Given the description of an element on the screen output the (x, y) to click on. 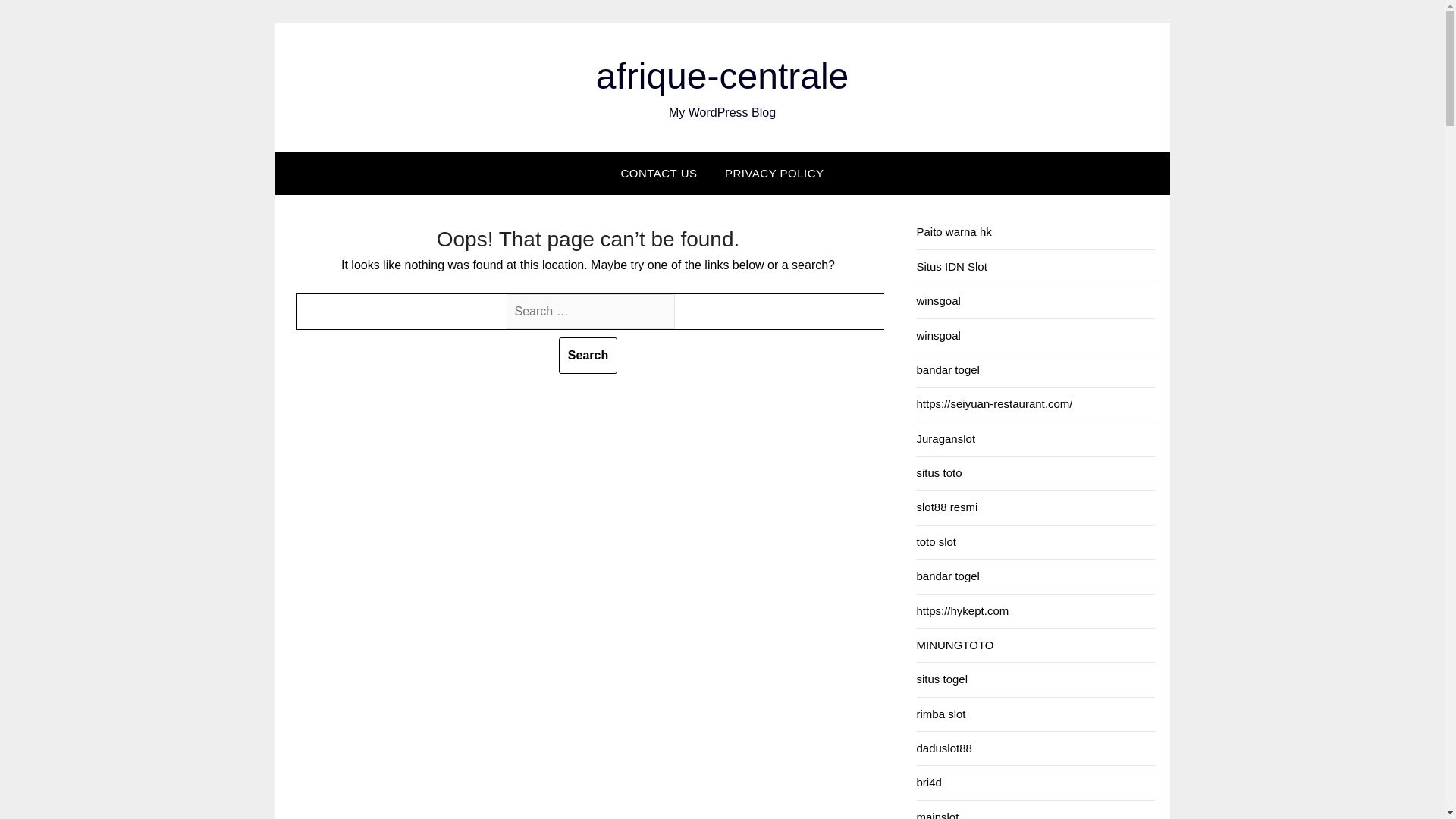
CONTACT US (658, 173)
winsgoal (937, 300)
winsgoal (937, 335)
daduslot88 (943, 748)
PRIVACY POLICY (774, 173)
bri4d (927, 781)
bandar togel (946, 575)
toto slot (935, 541)
Situs IDN Slot (951, 266)
bandar togel (946, 369)
slot88 resmi (945, 506)
MINUNGTOTO (953, 644)
Search (588, 355)
situs toto (937, 472)
afrique-centrale (721, 76)
